Given the description of an element on the screen output the (x, y) to click on. 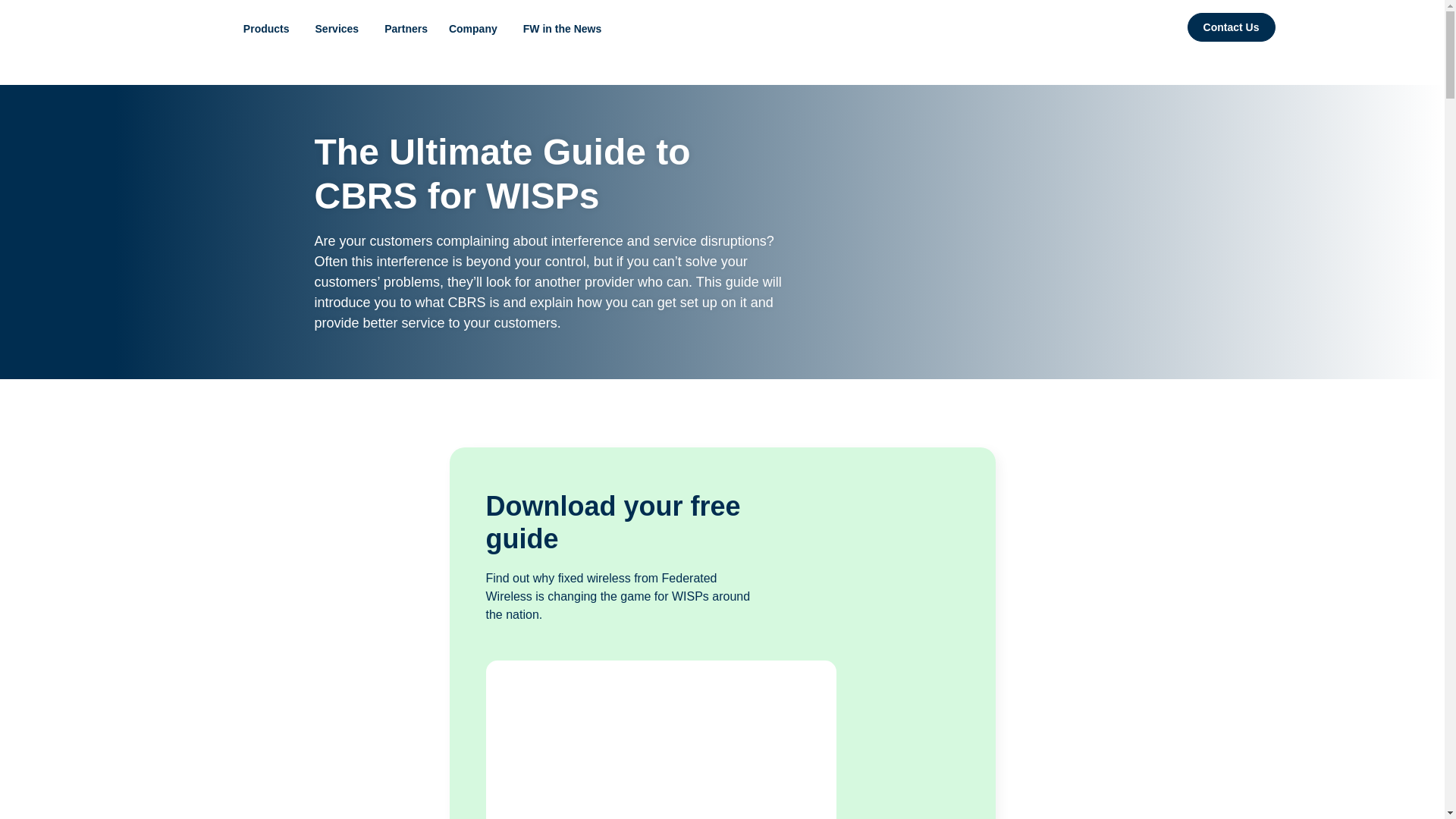
Company (475, 29)
Contact Us (1231, 27)
FW in the News (561, 29)
Products (268, 29)
Services (339, 29)
Partners (406, 29)
